Given the description of an element on the screen output the (x, y) to click on. 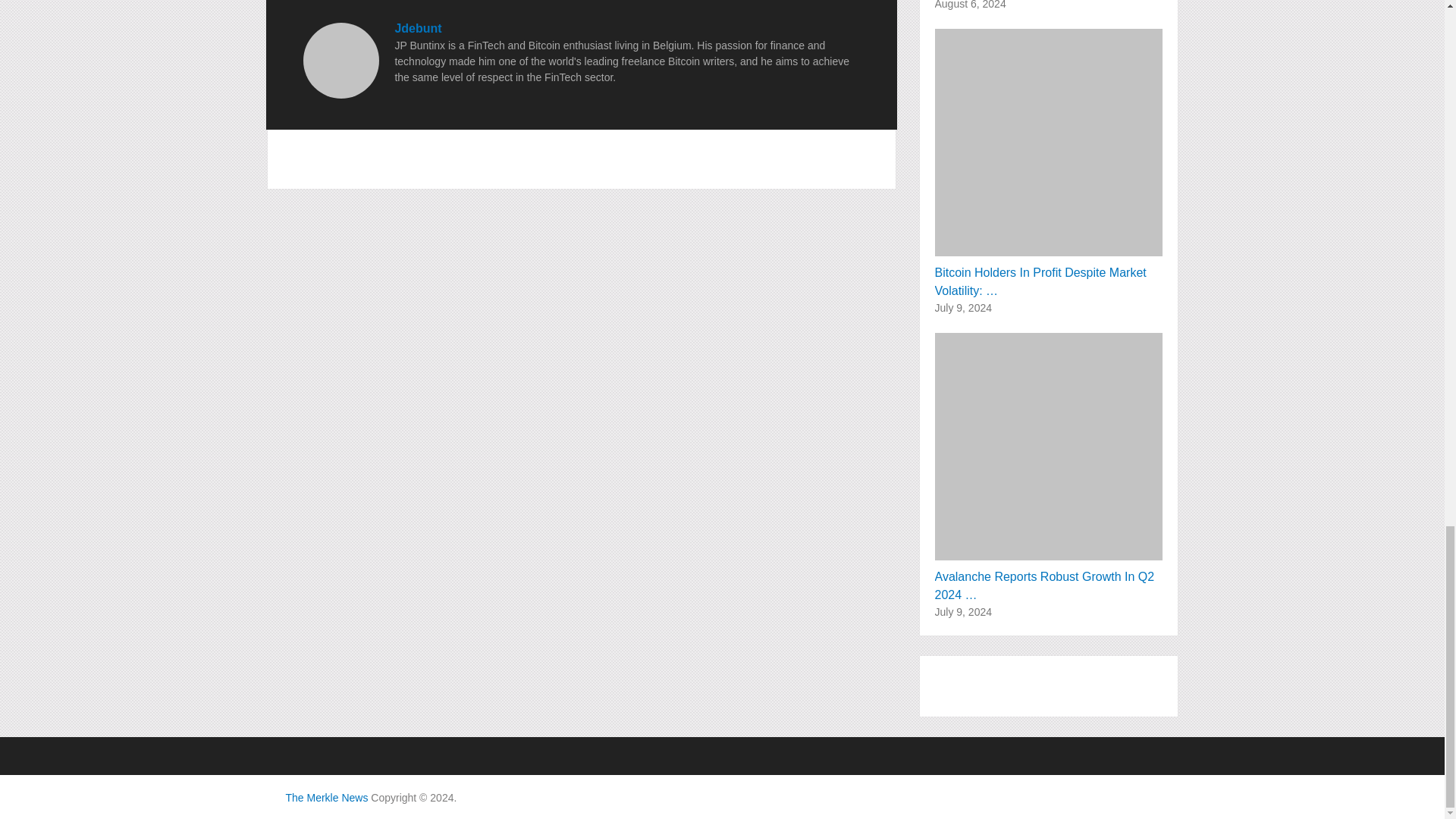
Jdebunt (417, 28)
The Merkle News (326, 797)
